Given the description of an element on the screen output the (x, y) to click on. 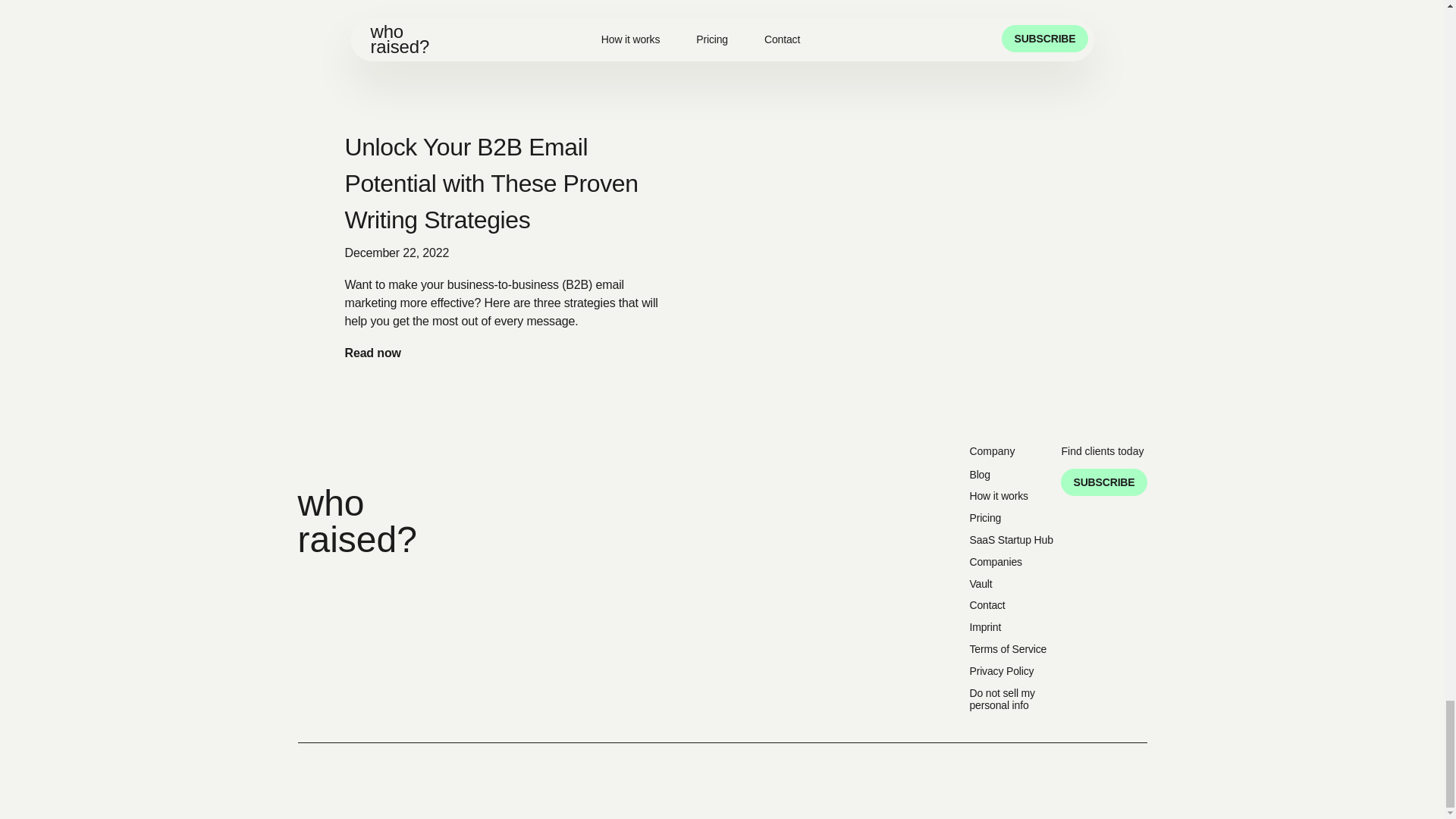
SaaS Startup Hub (1011, 540)
How it works (1011, 495)
Companies (1011, 562)
Blog (1011, 474)
Pricing (1011, 517)
